Given the description of an element on the screen output the (x, y) to click on. 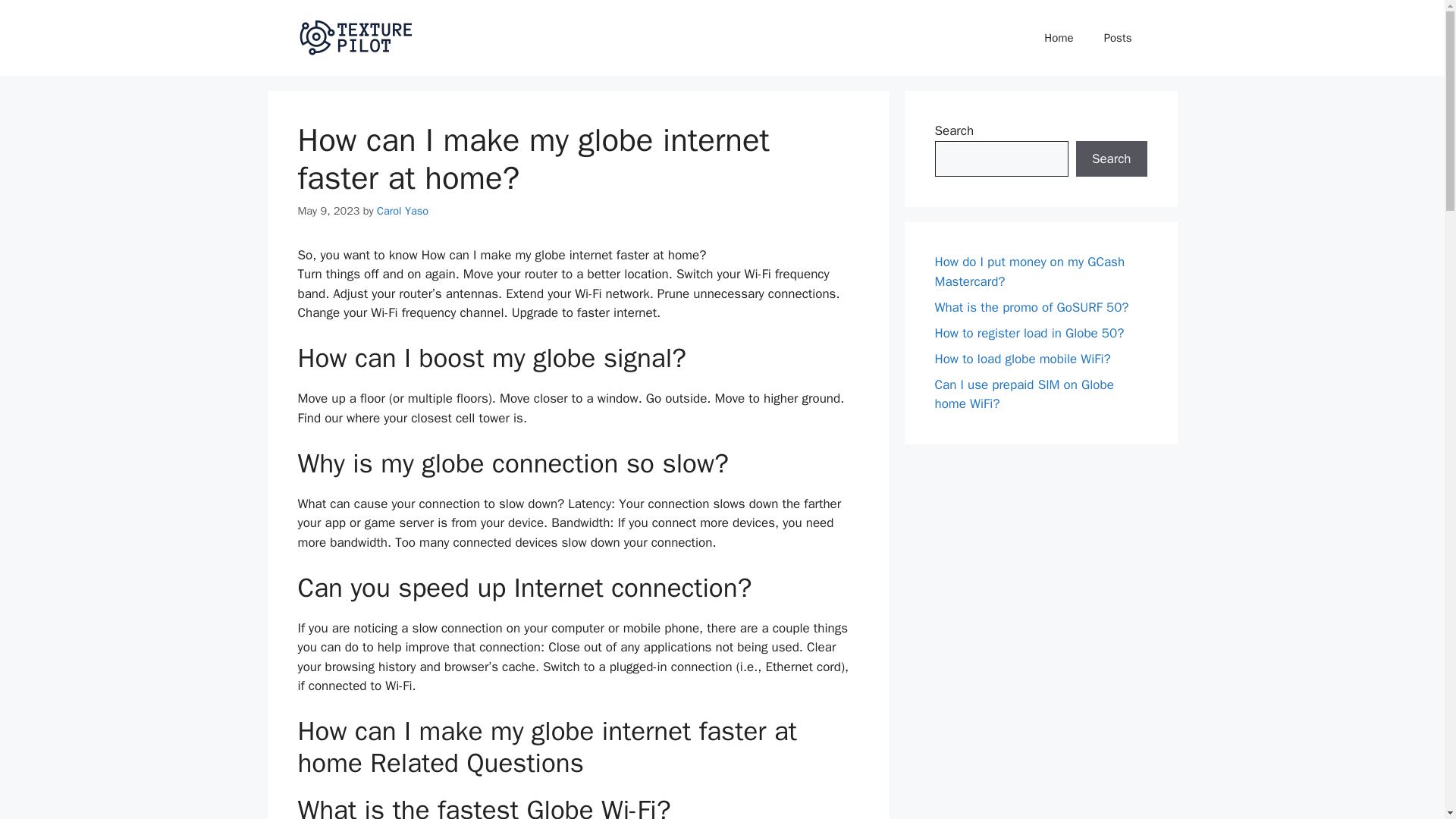
Can I use prepaid SIM on Globe home WiFi? (1023, 393)
Carol Yaso (402, 210)
Search (1111, 158)
How to register load in Globe 50? (1029, 332)
Posts (1118, 37)
Home (1058, 37)
View all posts by Carol Yaso (402, 210)
How to load globe mobile WiFi? (1021, 358)
What is the promo of GoSURF 50? (1031, 306)
How do I put money on my GCash Mastercard? (1029, 271)
